Given the description of an element on the screen output the (x, y) to click on. 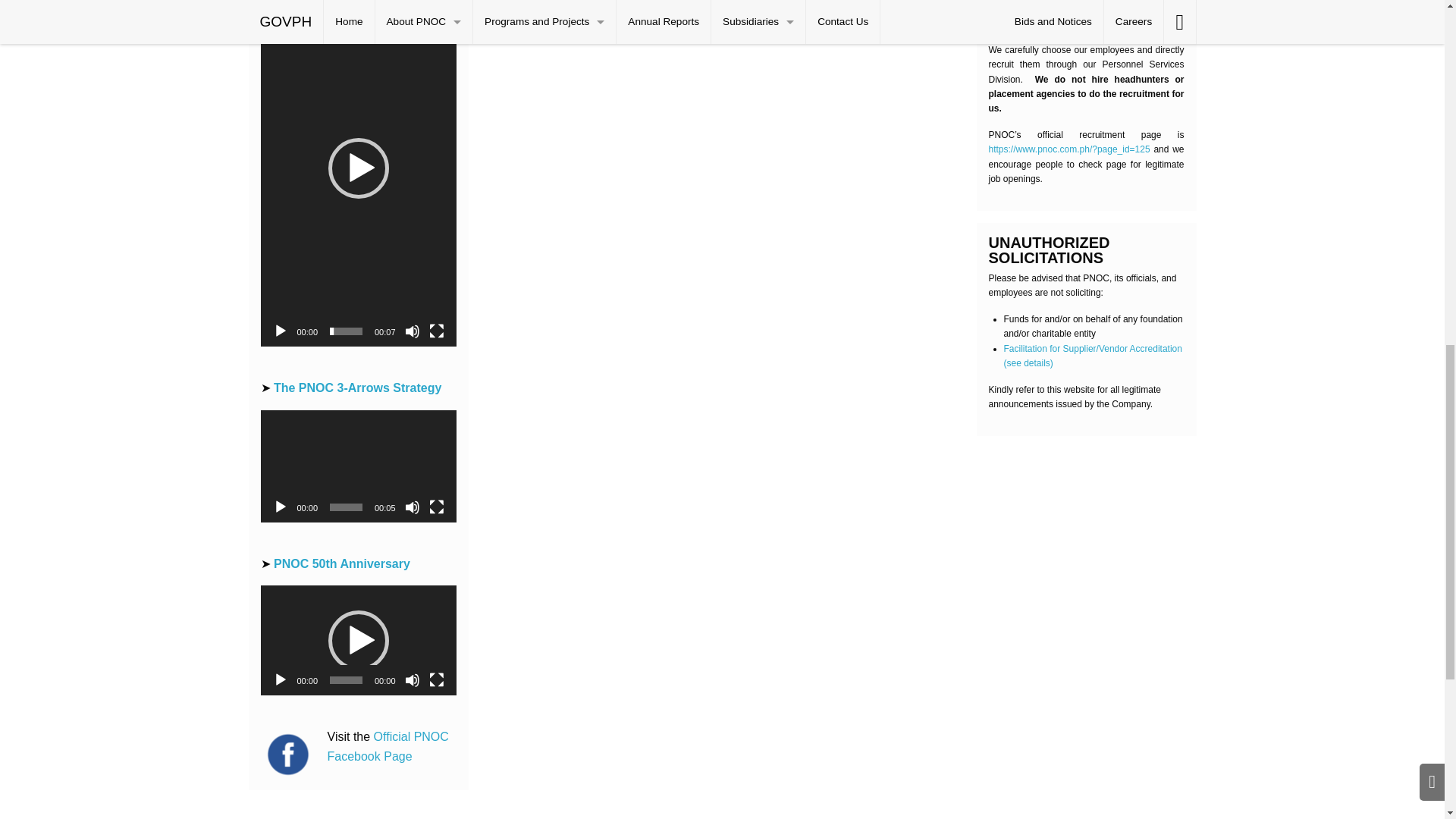
Play (280, 331)
Mute (412, 331)
Fullscreen (436, 331)
